Given the description of an element on the screen output the (x, y) to click on. 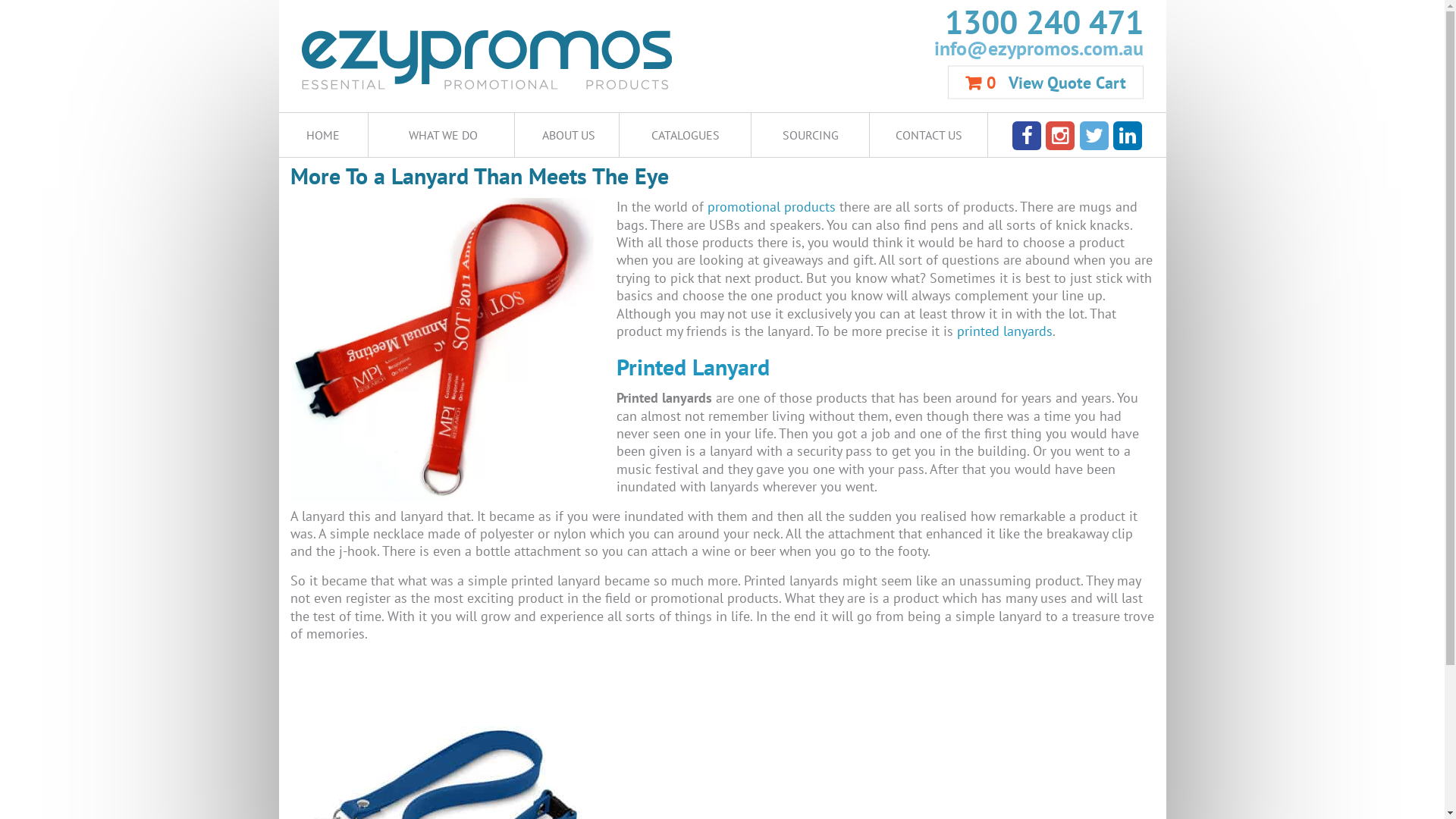
Stationery Element type: text (389, 352)
SOURCING Element type: text (810, 134)
Food & Beverages Element type: text (610, 270)
Umbrellas Element type: text (389, 393)
ABOUT US Element type: text (566, 134)
ABOUT US Element type: text (609, 178)
Novelty Items Element type: text (610, 311)
Bags Element type: text (832, 189)
Wallets & Banks Element type: text (832, 393)
Business Products Element type: text (1053, 189)
Personal Care Element type: text (832, 311)
info@ezypromos.com.au Element type: text (931, 47)
printed lanyards Element type: text (1004, 330)
Housewares Element type: text (832, 270)
Wrist Bands Element type: text (1053, 393)
0 View Quote Cart Element type: text (1045, 81)
Technology Element type: text (610, 352)
promotional products Element type: text (770, 206)
Car Accessories Element type: text (389, 229)
Apparel Element type: text (389, 189)
Badges Element type: text (610, 189)
Desk Accessories Element type: text (832, 229)
Dog Collars & Leashes Element type: text (1053, 229)
OUR EXPERTISE Element type: text (609, 221)
WHAT WE DO Element type: text (441, 134)
Nylon Lanyard | Ezy Promo Element type: hover (441, 349)
Lanyards Element type: text (389, 311)
1300 240 471 Element type: text (931, 22)
USB Flash Drives Element type: text (610, 393)
CONTACT US Element type: text (928, 134)
Drinkware Element type: text (389, 270)
CATALOGUES Element type: text (685, 134)
Sports & Outdoors Element type: text (1053, 311)
Travel Element type: text (1053, 352)
Christmas Gifts Element type: text (610, 229)
Tools & Hardware Element type: text (832, 352)
Key Accessories Element type: text (1053, 270)
HOME Element type: text (323, 134)
